Given the description of an element on the screen output the (x, y) to click on. 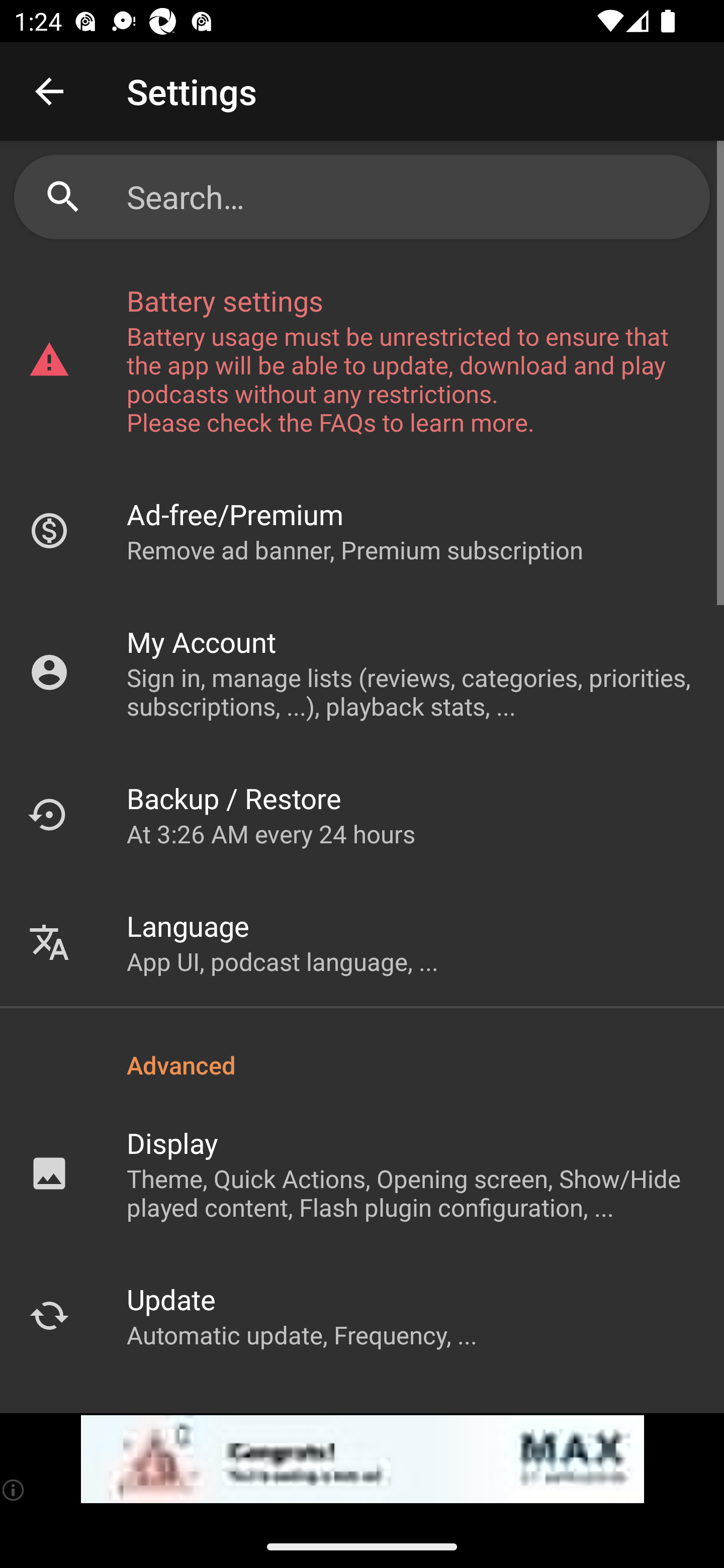
Navigate up (49, 91)
Search… (361, 197)
Search… (410, 196)
Backup / Restore At 3:26 AM every 24 hours (362, 814)
Language App UI, podcast language, ... (362, 942)
Update Automatic update, Frequency, ... (362, 1315)
app-monetization (362, 1459)
(i) (14, 1489)
